Given the description of an element on the screen output the (x, y) to click on. 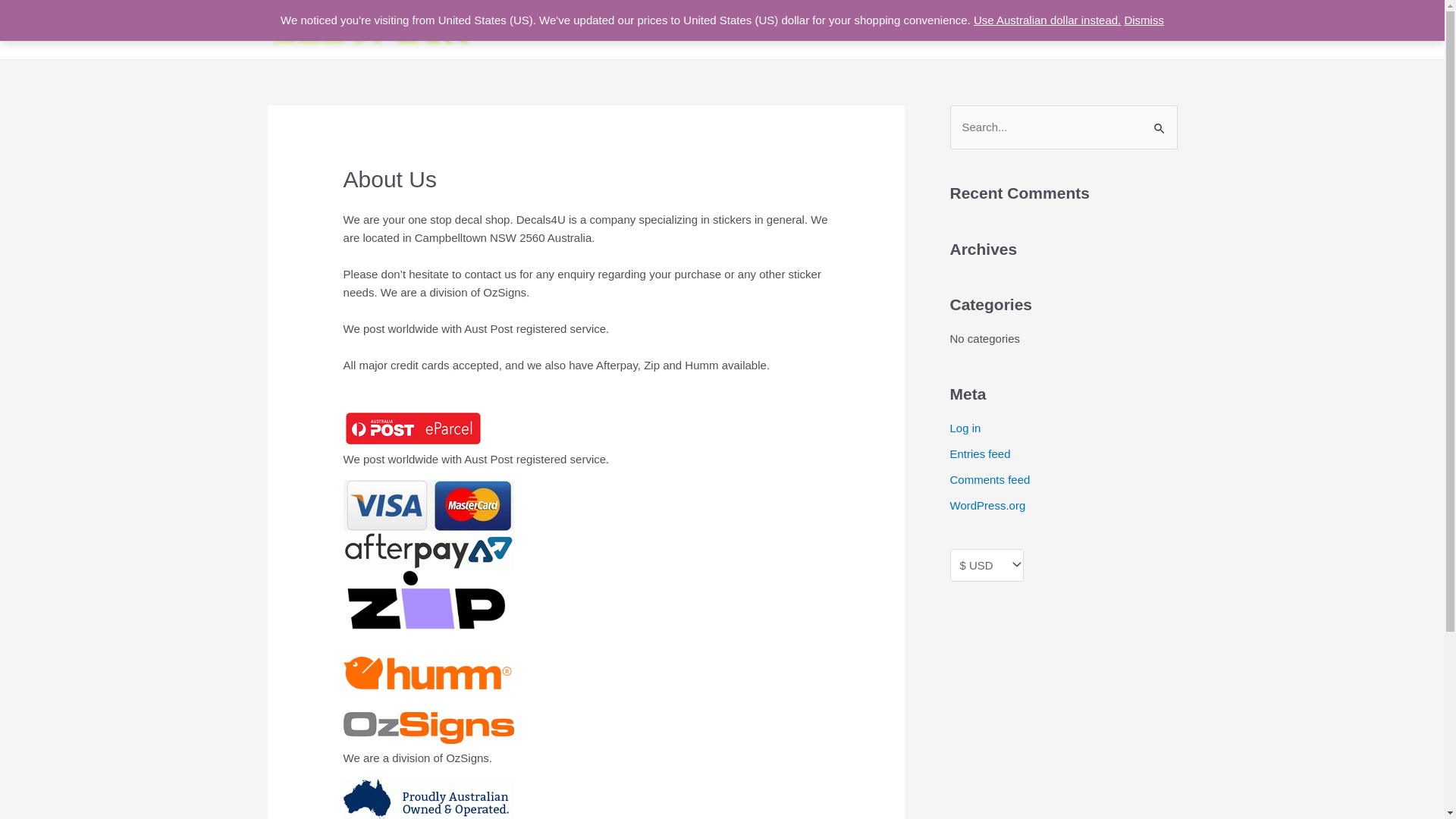
Entries feed Element type: text (979, 453)
Shop Element type: text (809, 29)
Search Element type: text (1160, 120)
Log in Element type: text (964, 427)
Cart Element type: text (1085, 29)
WordPress.org Element type: text (987, 504)
My account Element type: text (1023, 29)
Dismiss Element type: text (1143, 19)
Contact Us Element type: text (942, 29)
Use Australian dollar instead. Element type: text (1046, 19)
Comments feed Element type: text (989, 479)
About Us Element type: text (869, 29)
Wish List Element type: text (1142, 29)
